Given the description of an element on the screen output the (x, y) to click on. 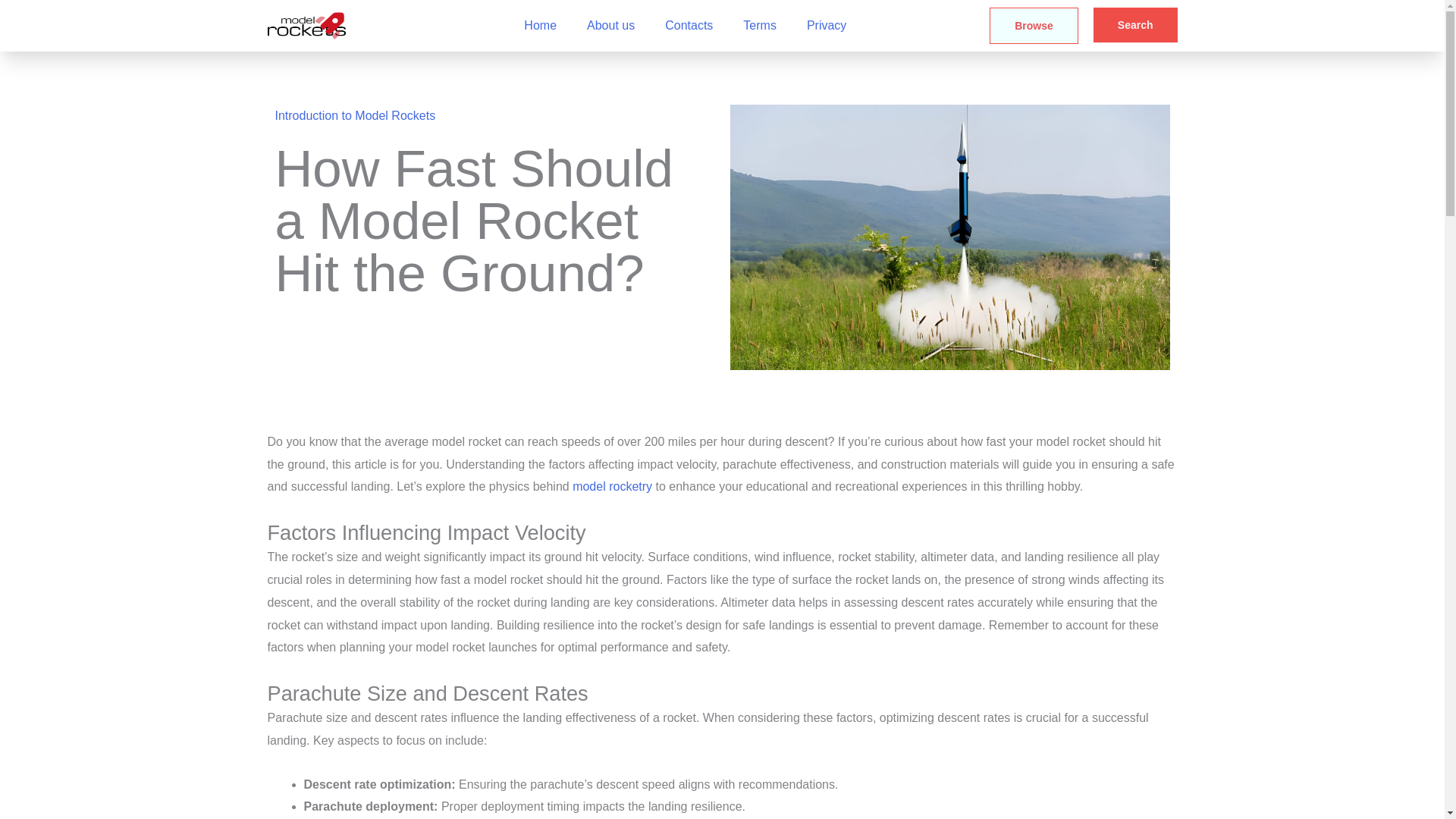
Privacy (826, 25)
Contacts (688, 25)
Introduction to Model Rockets (355, 115)
Home (540, 25)
model rocketry (610, 486)
Search (1135, 24)
Terms (760, 25)
Browse (1034, 25)
About us (610, 25)
